Given the description of an element on the screen output the (x, y) to click on. 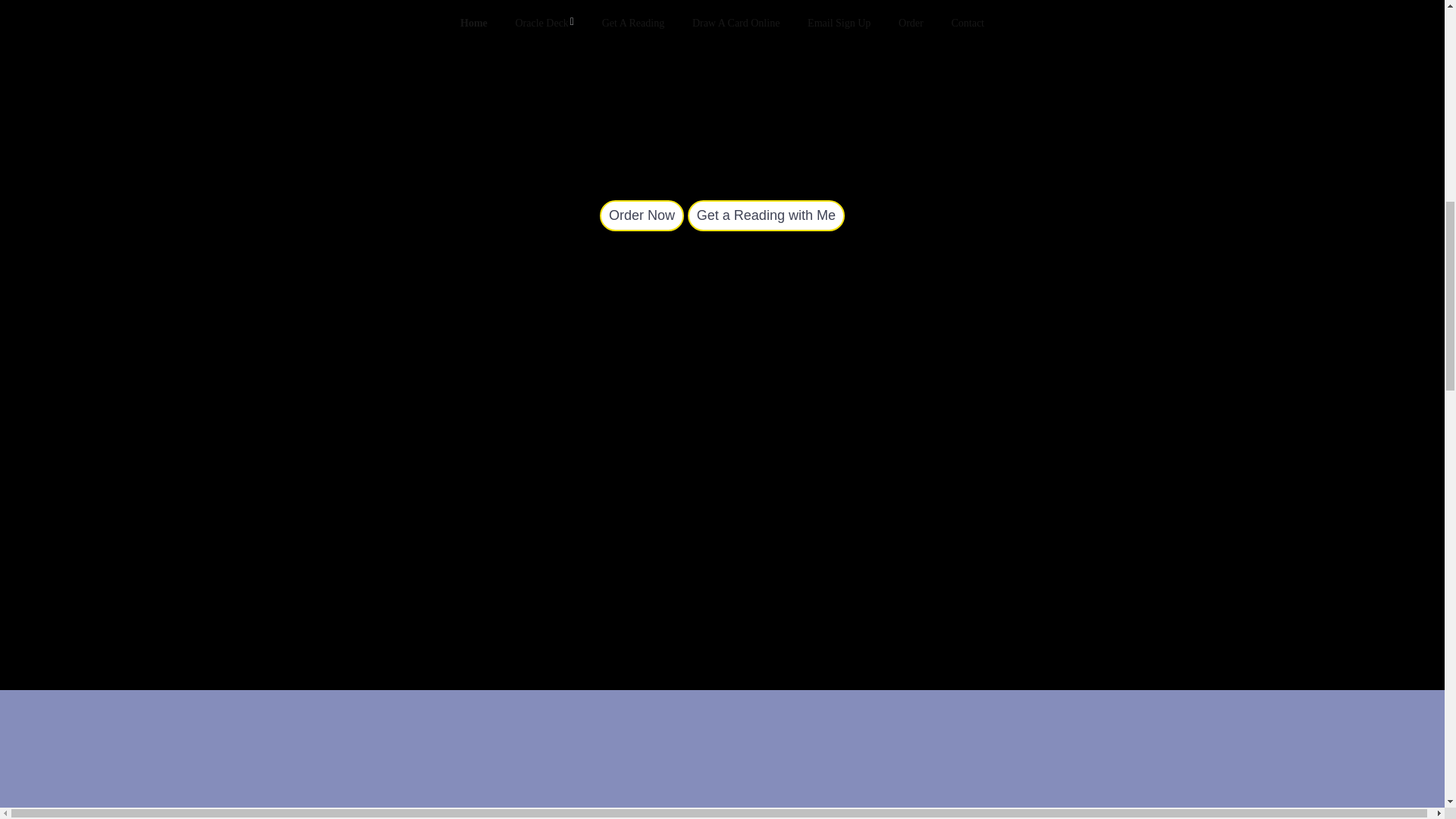
Get a Reading with Me (765, 214)
Card Guide (765, 214)
Order Now (641, 214)
Card Guide (641, 214)
